Given the description of an element on the screen output the (x, y) to click on. 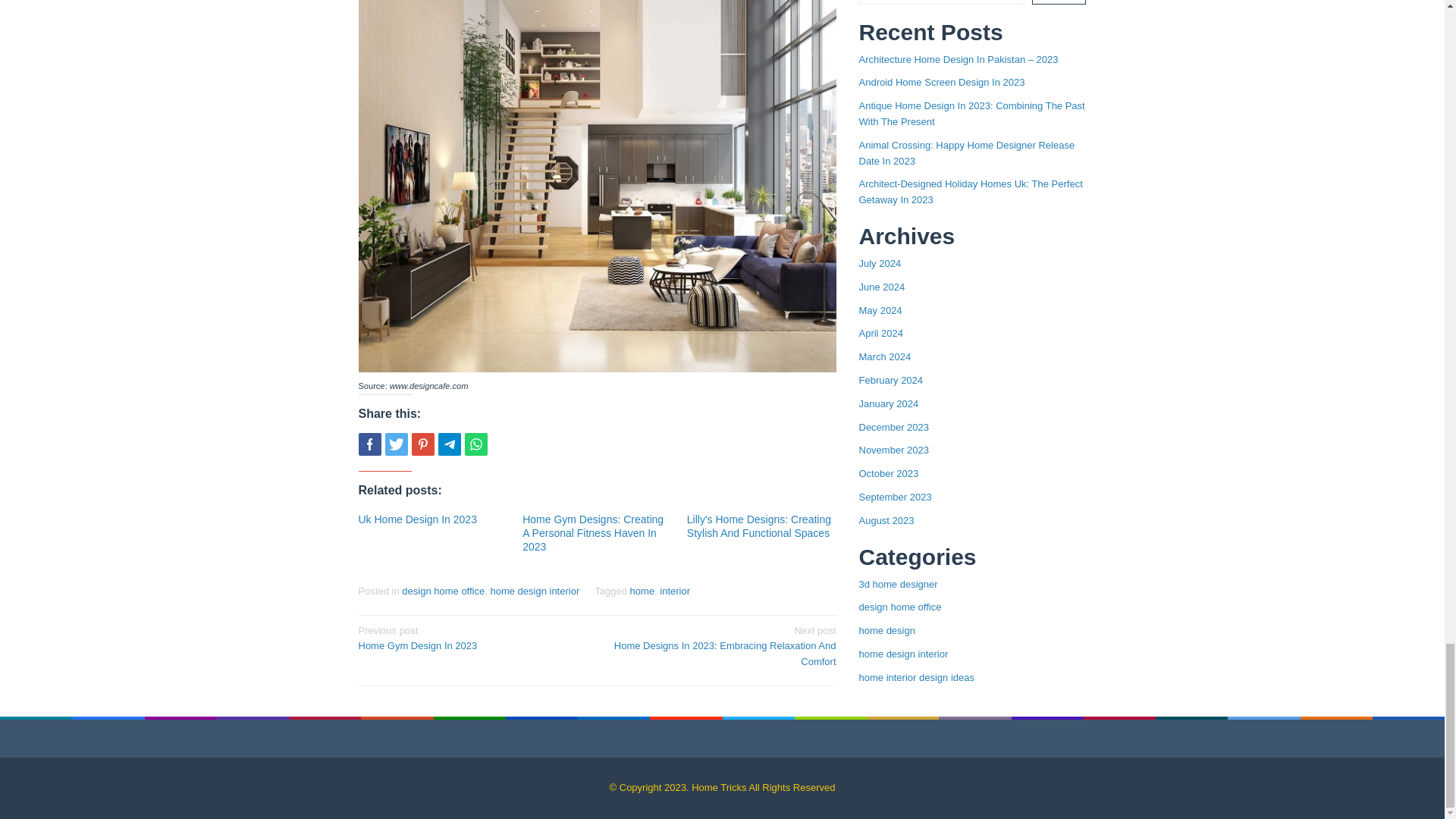
design home office (442, 591)
home (642, 591)
interior (674, 591)
Uk Home Design In 2023 (417, 519)
Home Gym Designs: Creating A Personal Fitness Haven In 2023 (592, 532)
home design interior (534, 591)
Share this (369, 444)
Whatsapp (475, 444)
Lilly's Home Designs: Creating Stylish And Functional Spaces (759, 525)
Tweet this (396, 444)
Telegram Share (449, 444)
